Given the description of an element on the screen output the (x, y) to click on. 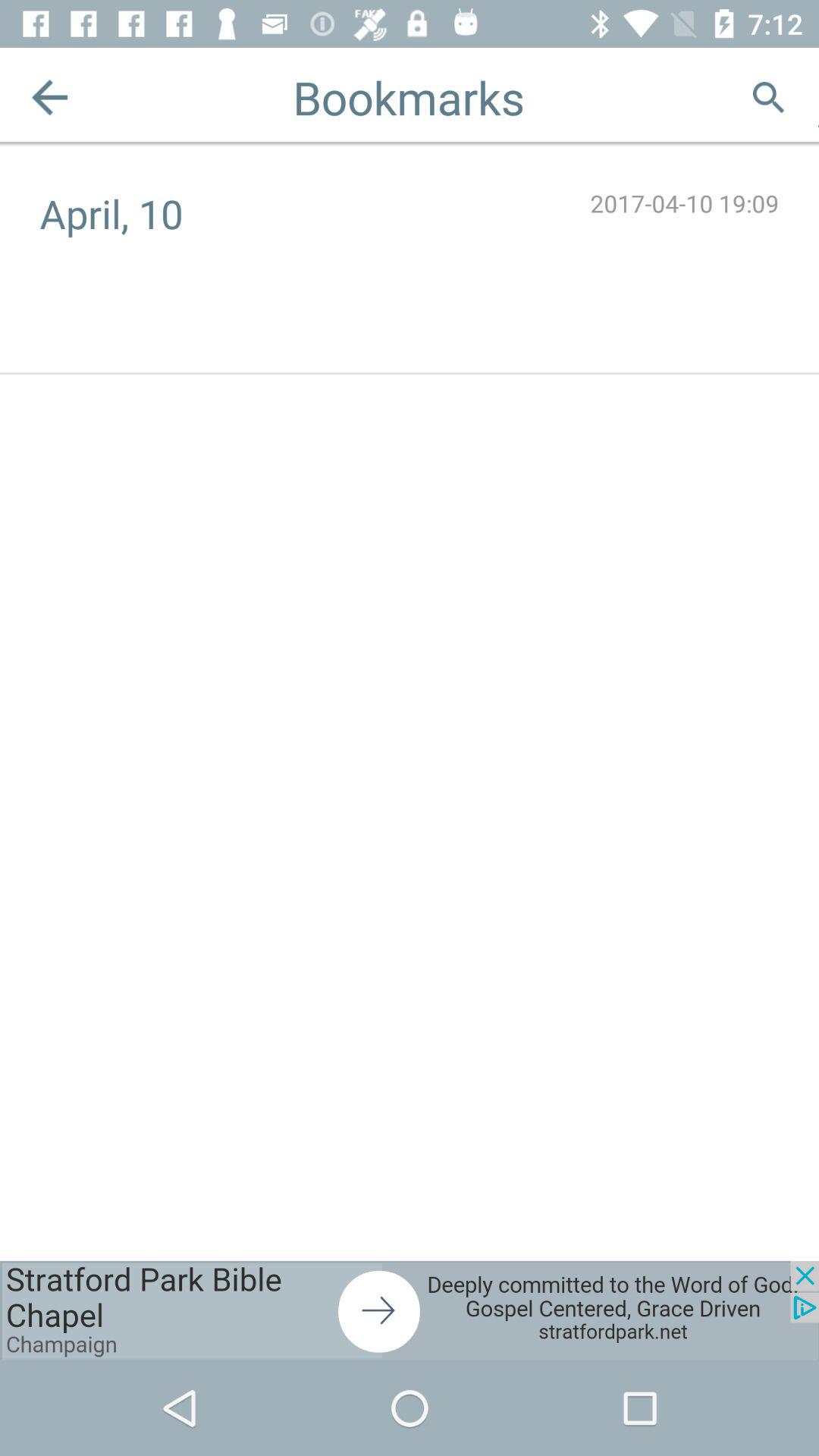
go back (49, 97)
